Given the description of an element on the screen output the (x, y) to click on. 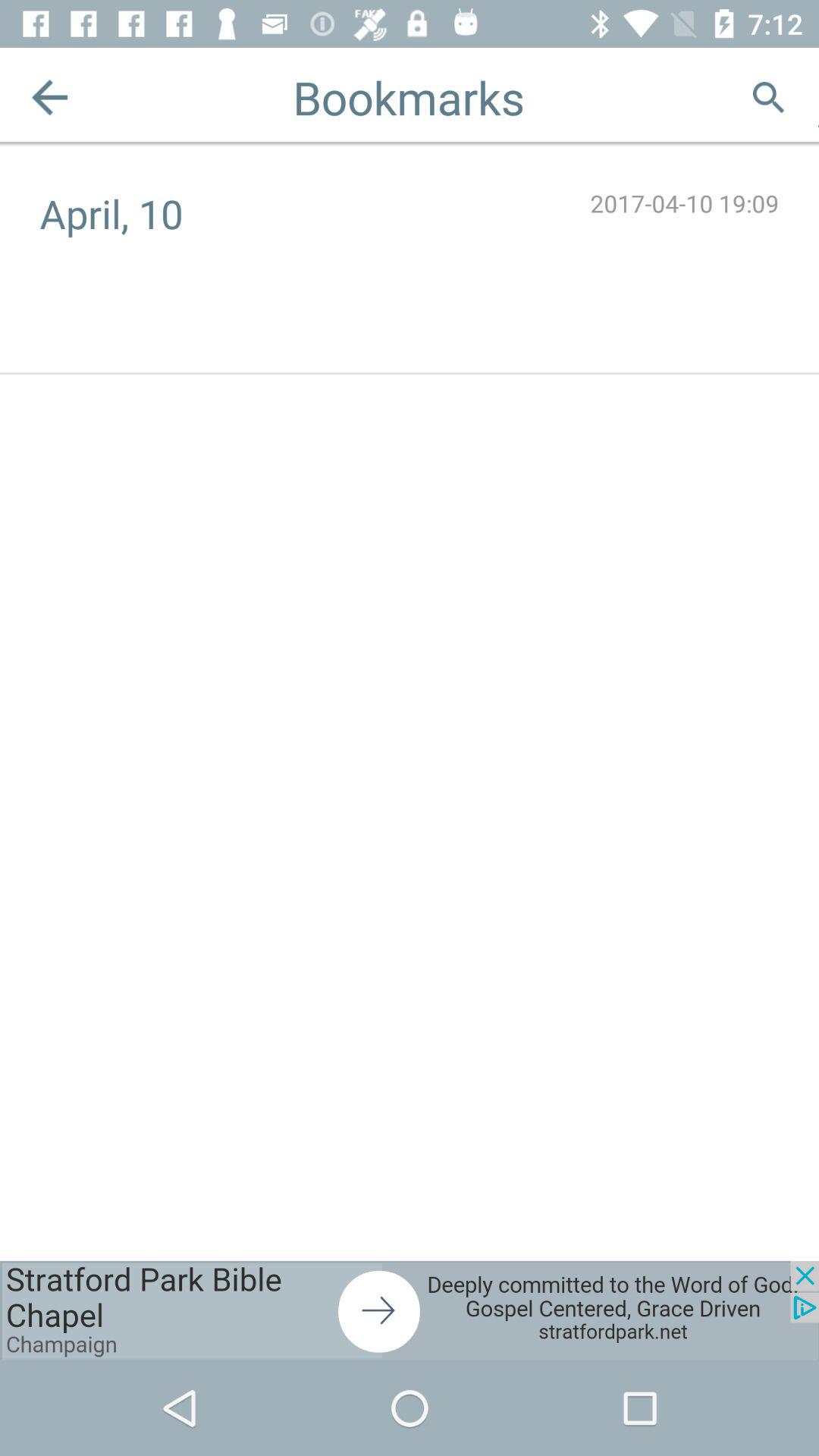
go back (49, 97)
